Given the description of an element on the screen output the (x, y) to click on. 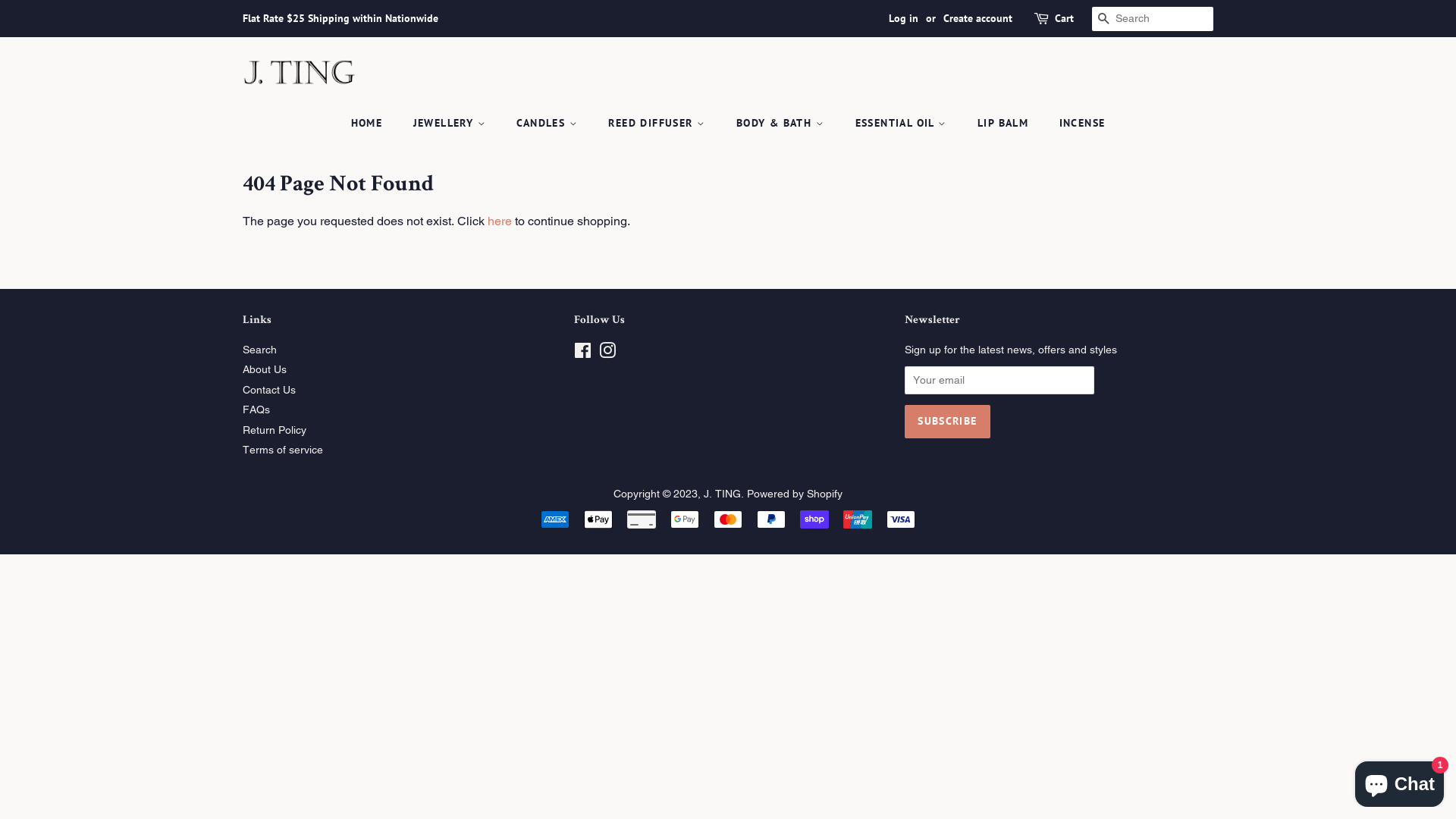
FAQs Element type: text (255, 409)
ESSENTIAL OIL Element type: text (903, 123)
Facebook Element type: text (582, 353)
BODY & BATH Element type: text (781, 123)
Terms of service Element type: text (282, 449)
INCENSE Element type: text (1076, 123)
SEARCH Element type: text (1104, 18)
JEWELLERY Element type: text (451, 123)
Create account Element type: text (977, 18)
Search Element type: text (259, 349)
J. TING Element type: text (721, 493)
CANDLES Element type: text (549, 123)
About Us Element type: text (264, 369)
Return Policy Element type: text (274, 429)
here Element type: text (499, 220)
Powered by Shopify Element type: text (794, 493)
LIP BALM Element type: text (1004, 123)
Log in Element type: text (903, 18)
Instagram Element type: text (607, 353)
Subscribe Element type: text (946, 421)
Cart Element type: text (1063, 18)
HOME Element type: text (374, 123)
Contact Us Element type: text (268, 389)
Shopify online store chat Element type: hover (1399, 780)
REED DIFFUSER Element type: text (658, 123)
